Given the description of an element on the screen output the (x, y) to click on. 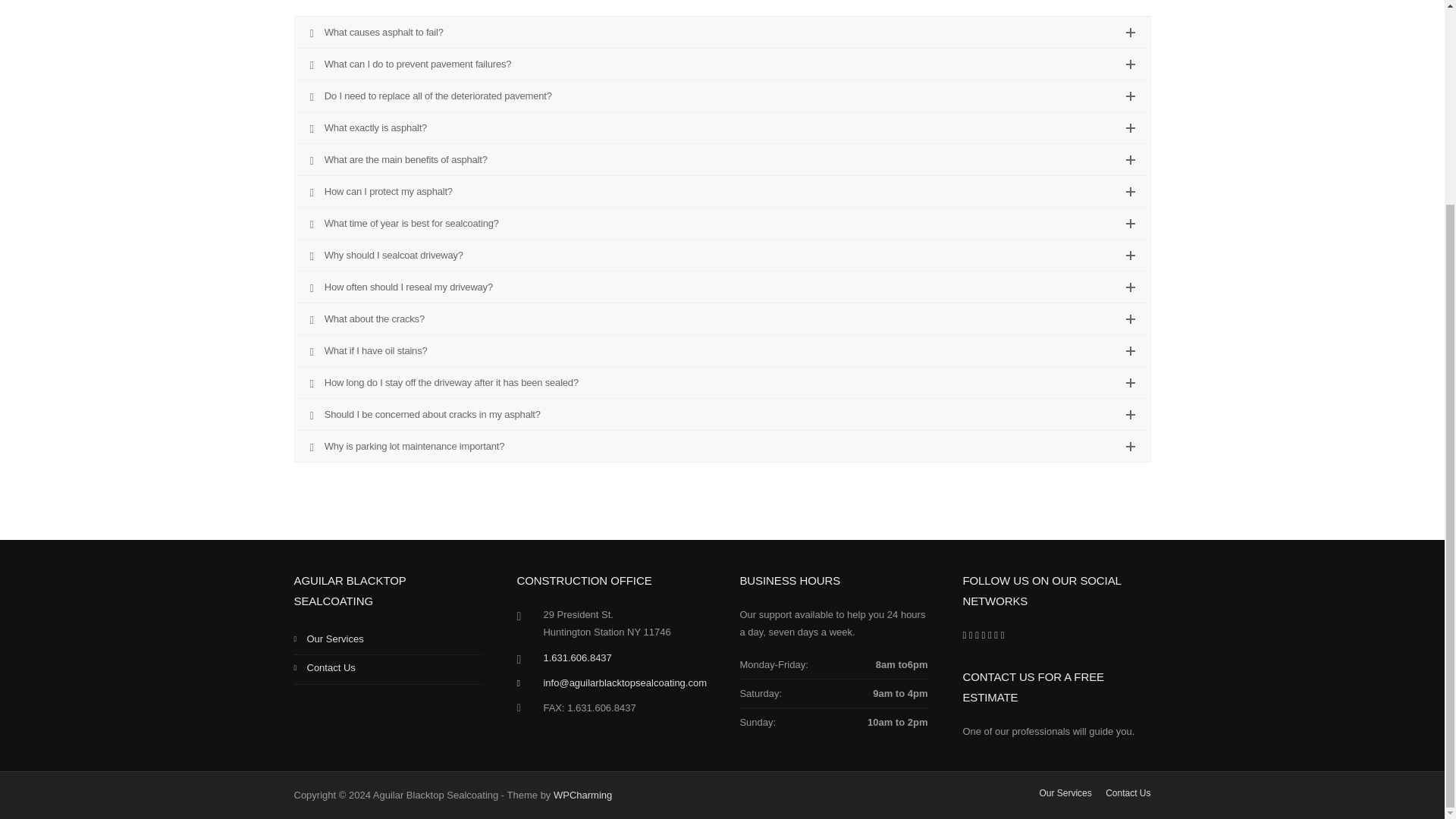
Should I be concerned about cracks in my asphalt? (722, 413)
Our Services (387, 640)
What can I do to prevent pavement failures? (722, 63)
Do I need to replace all of the deteriorated pavement? (722, 95)
Why should I sealcoat driveway? (722, 255)
Why is parking lot maintenance important? (722, 445)
1.631.606.8437 (577, 657)
What are the main benefits of asphalt? (722, 159)
What time of year is best for sealcoating? (722, 223)
How often should I reseal my driveway? (722, 286)
